Given the description of an element on the screen output the (x, y) to click on. 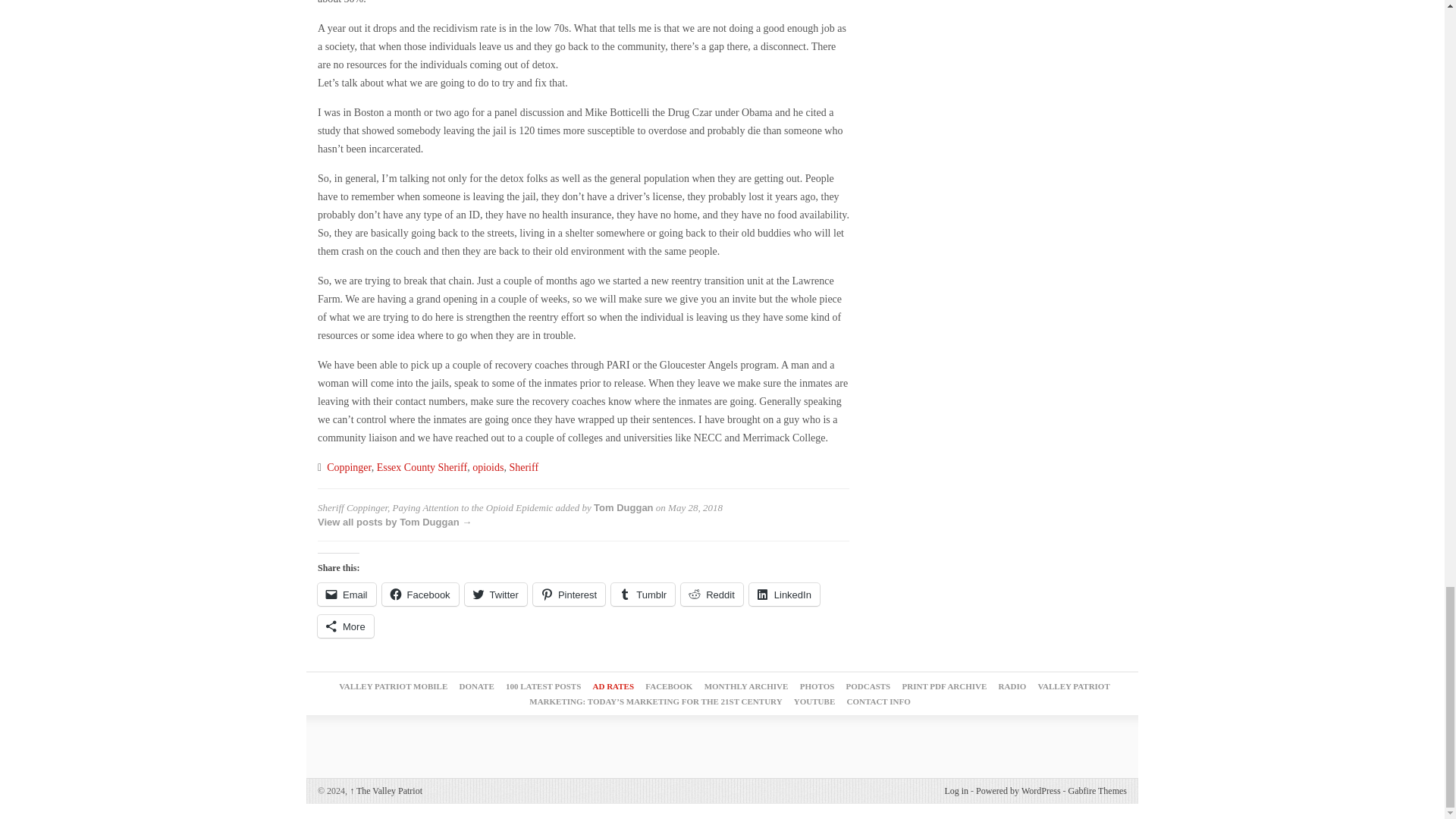
Click to share on LinkedIn (784, 594)
The Valley Patriot (385, 790)
Click to email a link to a friend (346, 594)
Click to share on Pinterest (568, 594)
Click to share on Reddit (711, 594)
Click to share on Facebook (419, 594)
Click to share on Twitter (495, 594)
Click to share on Tumblr (643, 594)
